Given the description of an element on the screen output the (x, y) to click on. 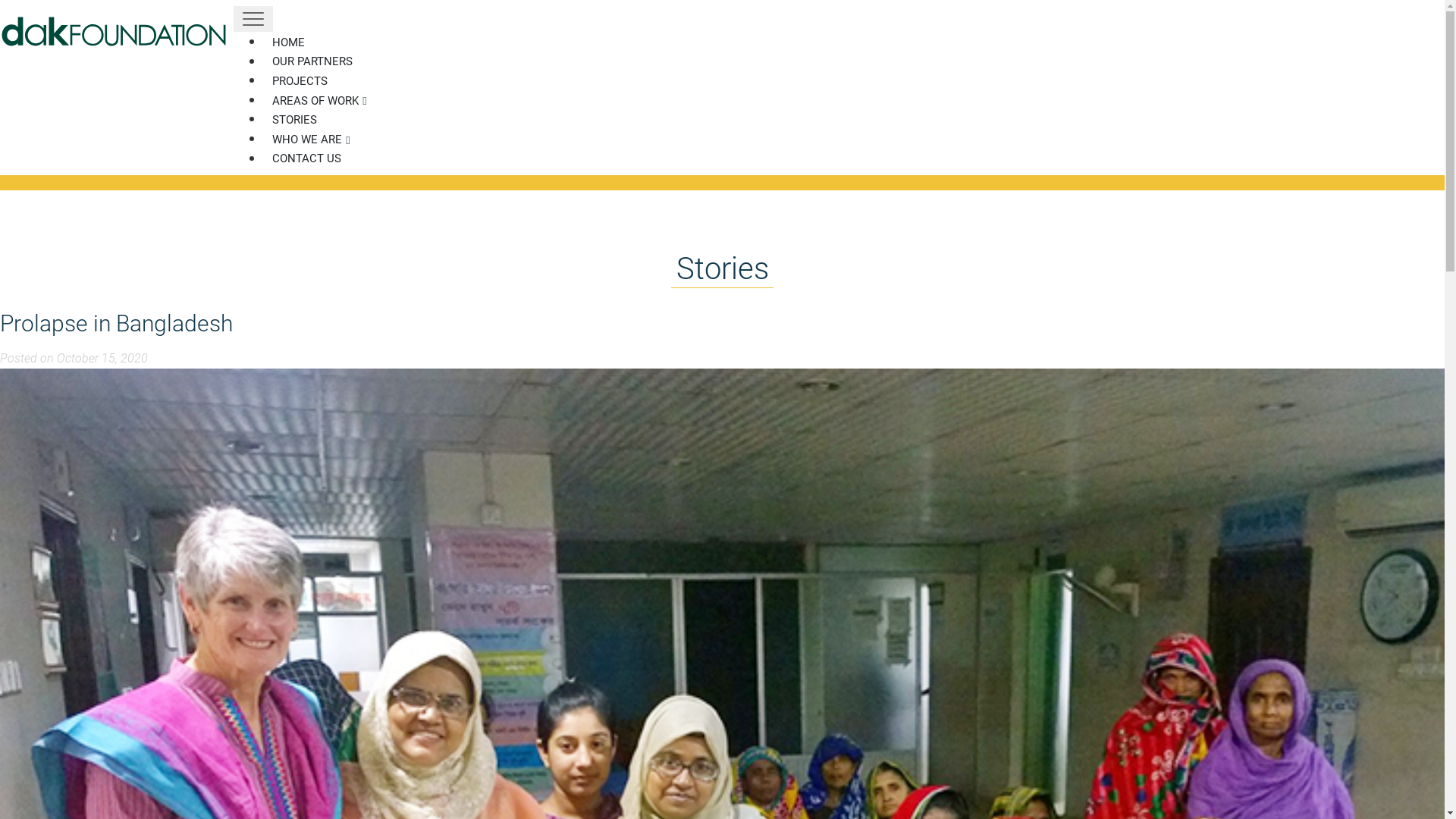
AREAS OF WORK Element type: text (319, 100)
CONTACT US Element type: text (306, 158)
HOME Element type: text (288, 42)
WHO WE ARE Element type: text (310, 139)
OUR PARTNERS Element type: text (312, 61)
PROJECTS Element type: text (299, 81)
STORIES Element type: text (294, 119)
